Given the description of an element on the screen output the (x, y) to click on. 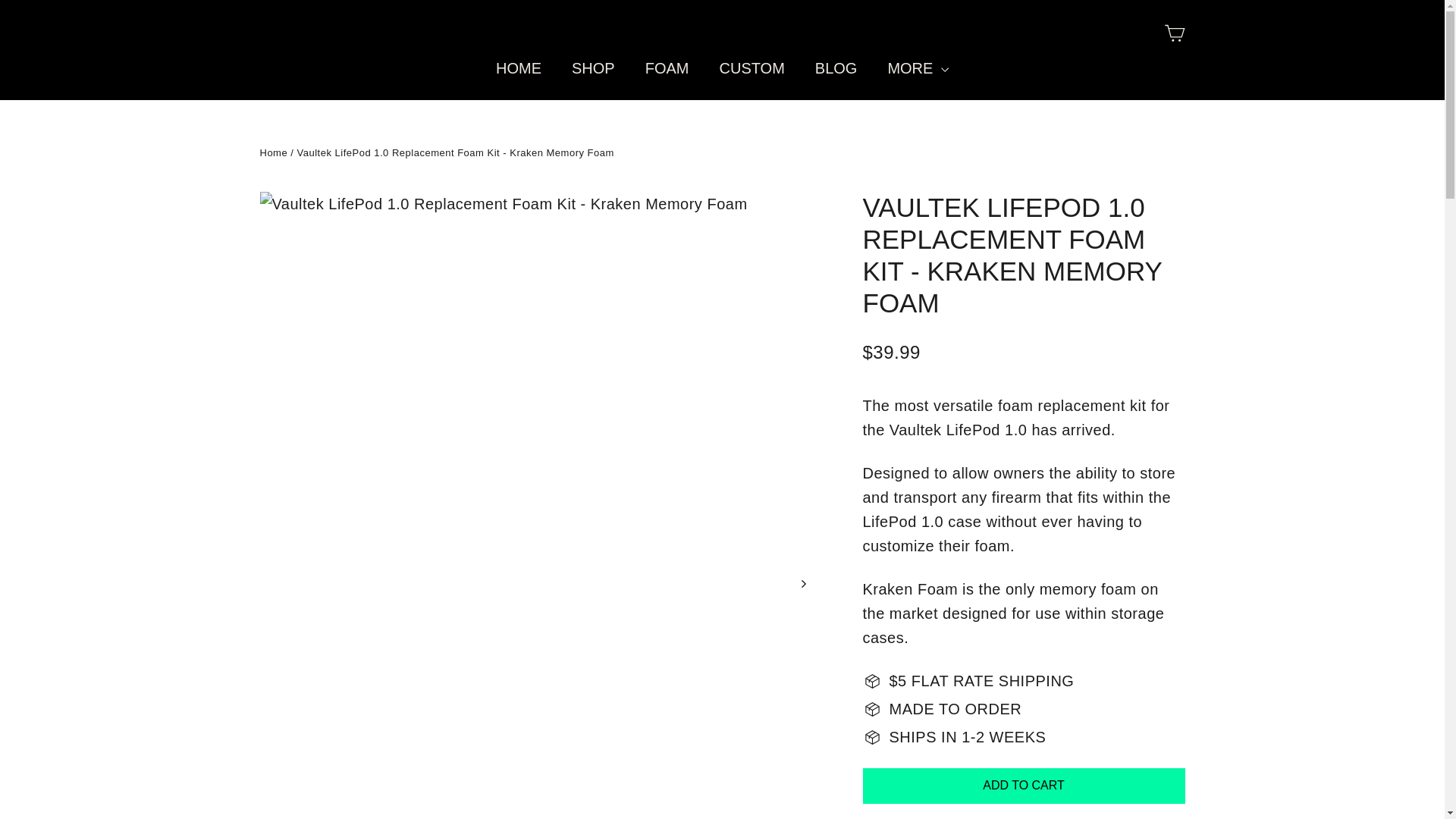
FOAM (667, 68)
HOME (518, 68)
CUSTOM (751, 68)
ADD TO CART (1024, 785)
BLOG (835, 68)
Home (272, 152)
MORE (917, 68)
Back to the frontpage (272, 152)
SHOP (593, 68)
CART (1173, 33)
